Given the description of an element on the screen output the (x, y) to click on. 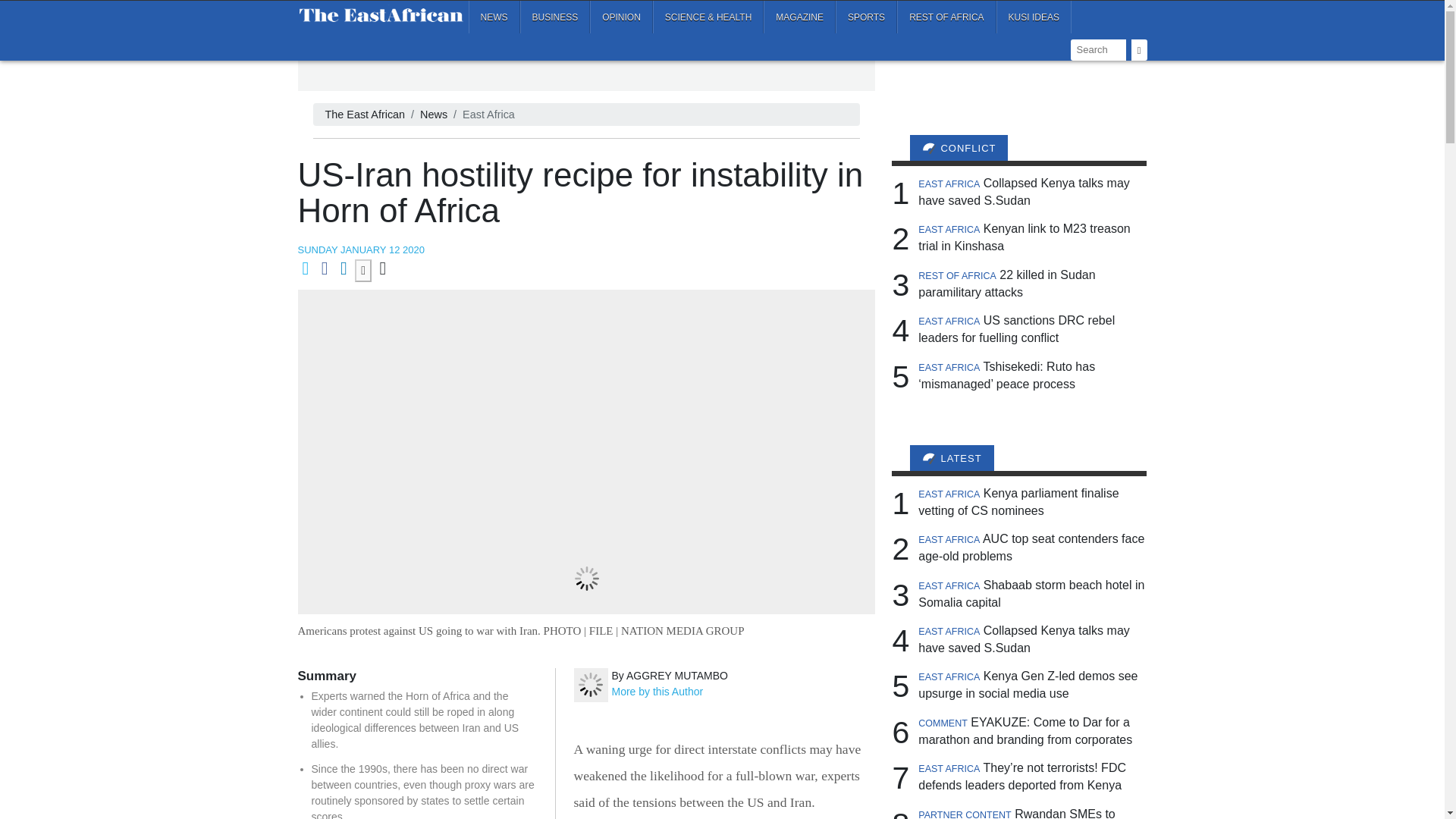
NEWS (493, 16)
MAGAZINE (798, 16)
BUSINESS (555, 16)
SPORTS (865, 16)
OPINION (620, 16)
